Given the description of an element on the screen output the (x, y) to click on. 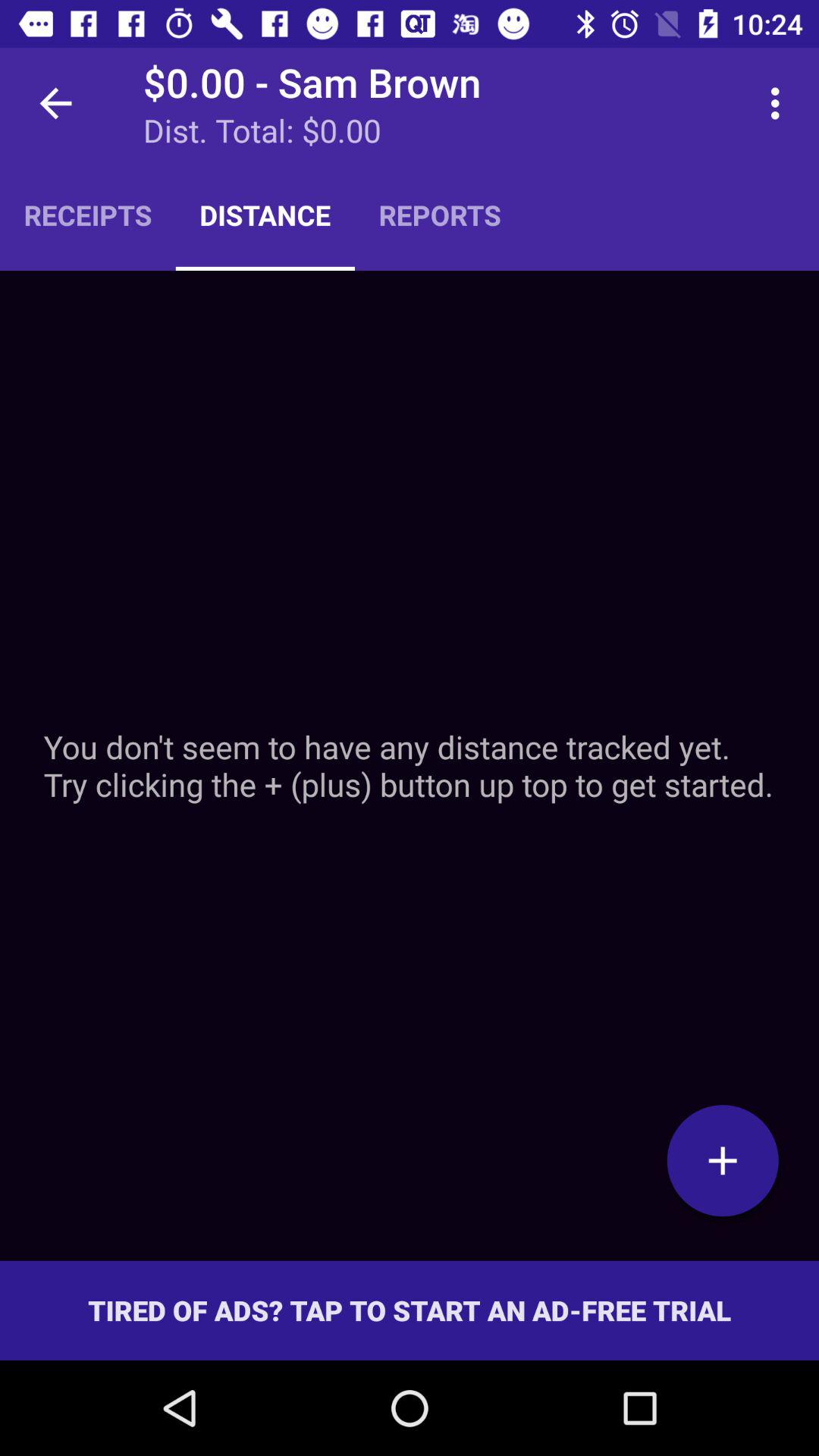
turn on the item next to 0 00 sam (55, 103)
